Given the description of an element on the screen output the (x, y) to click on. 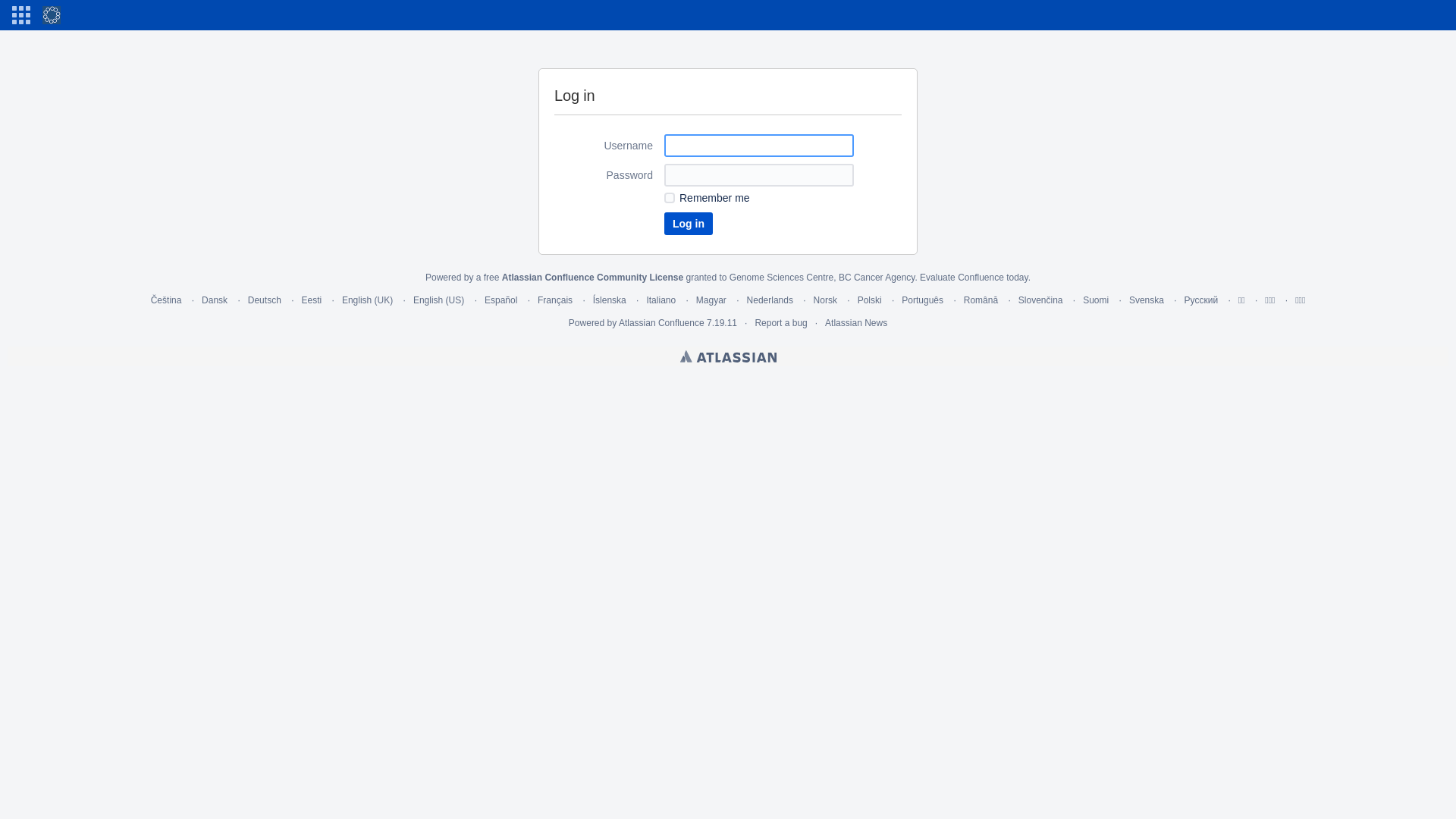
English (US) Element type: text (438, 299)
Suomi Element type: text (1095, 299)
Deutsch Element type: text (264, 299)
Polski Element type: text (869, 299)
Nederlands Element type: text (769, 299)
English (UK) Element type: text (367, 299)
Magyar Element type: text (711, 299)
Norsk Element type: text (825, 299)
Atlassian Element type: text (727, 356)
Svenska Element type: text (1146, 299)
Italiano Element type: text (660, 299)
Report a bug Element type: text (780, 322)
Evaluate Confluence today Element type: text (973, 277)
Log in Element type: text (688, 223)
Atlassian Confluence Element type: text (661, 322)
Linked Applications Element type: text (20, 15)
Eesti Element type: text (311, 299)
Atlassian News Element type: text (856, 322)
Dansk Element type: text (214, 299)
